Given the description of an element on the screen output the (x, y) to click on. 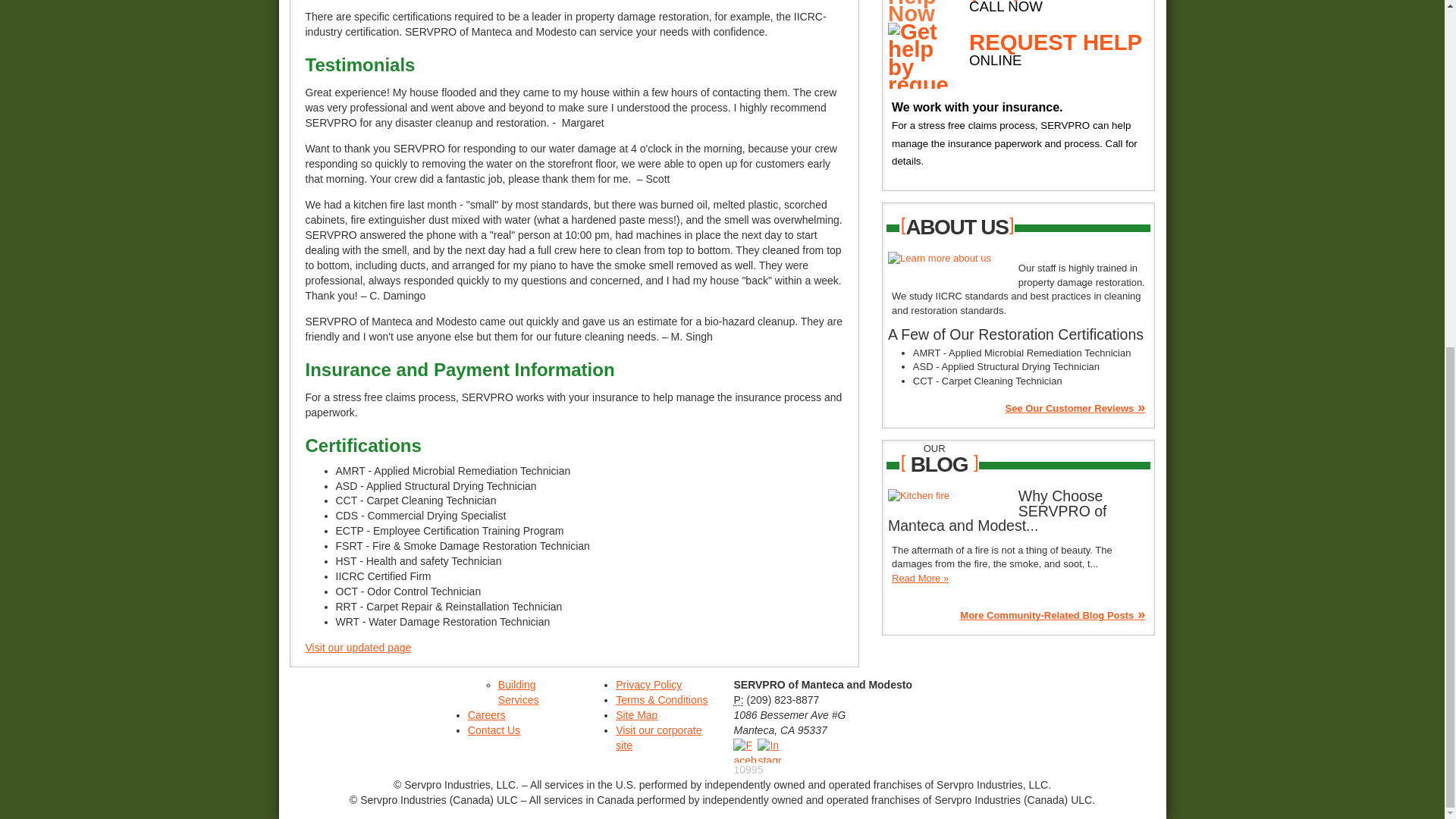
Phone (737, 699)
